Given the description of an element on the screen output the (x, y) to click on. 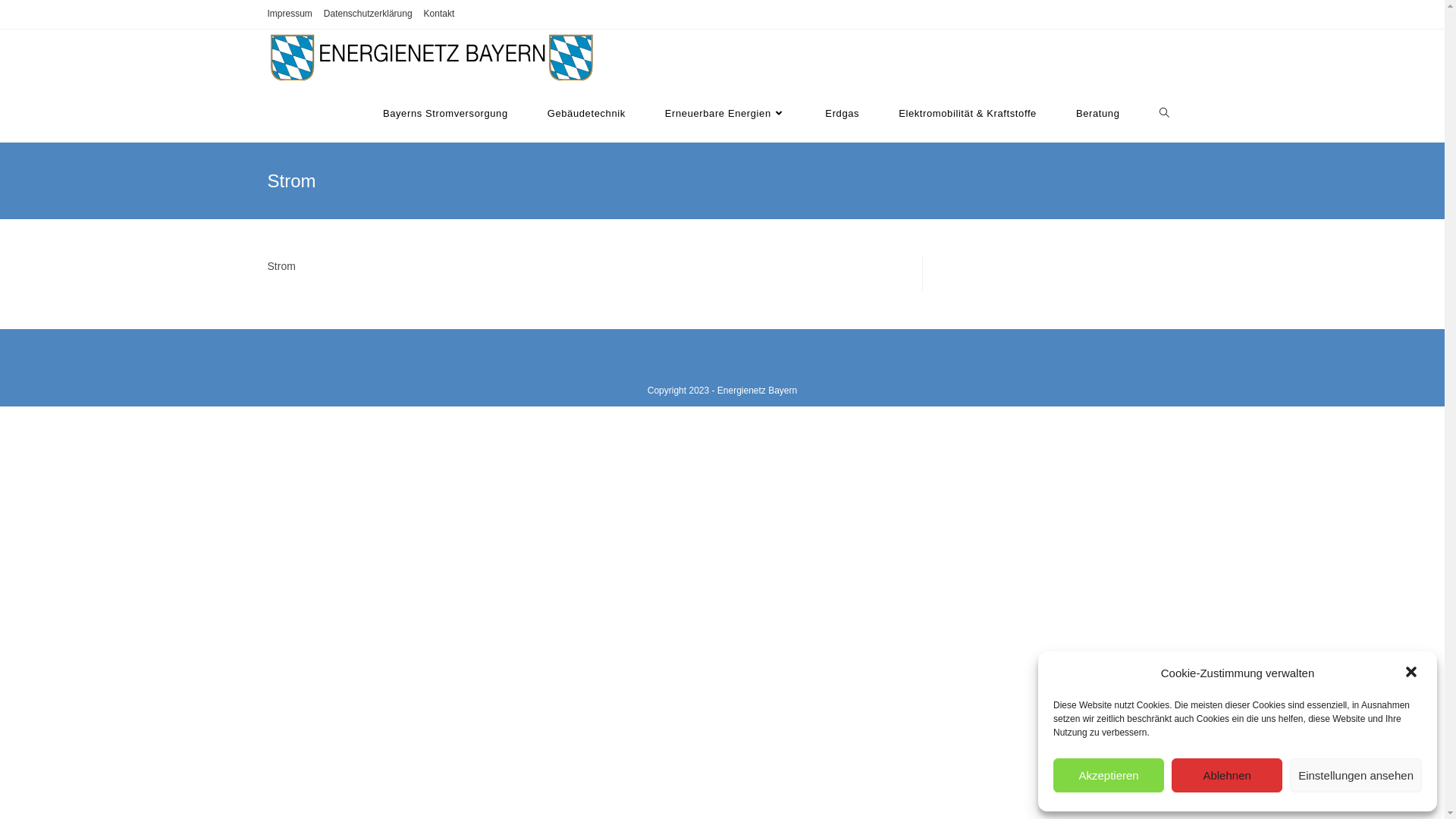
Toggle website search Element type: text (1163, 113)
Kontakt Element type: text (439, 14)
Akzeptieren Element type: text (1108, 775)
Einstellungen ansehen Element type: text (1355, 775)
Erdgas Element type: text (841, 113)
Bayerns Stromversorgung Element type: text (445, 113)
Ablehnen Element type: text (1226, 775)
Erneuerbare Energien Element type: text (725, 113)
Impressum Element type: text (288, 14)
Beratung Element type: text (1097, 113)
